Given the description of an element on the screen output the (x, y) to click on. 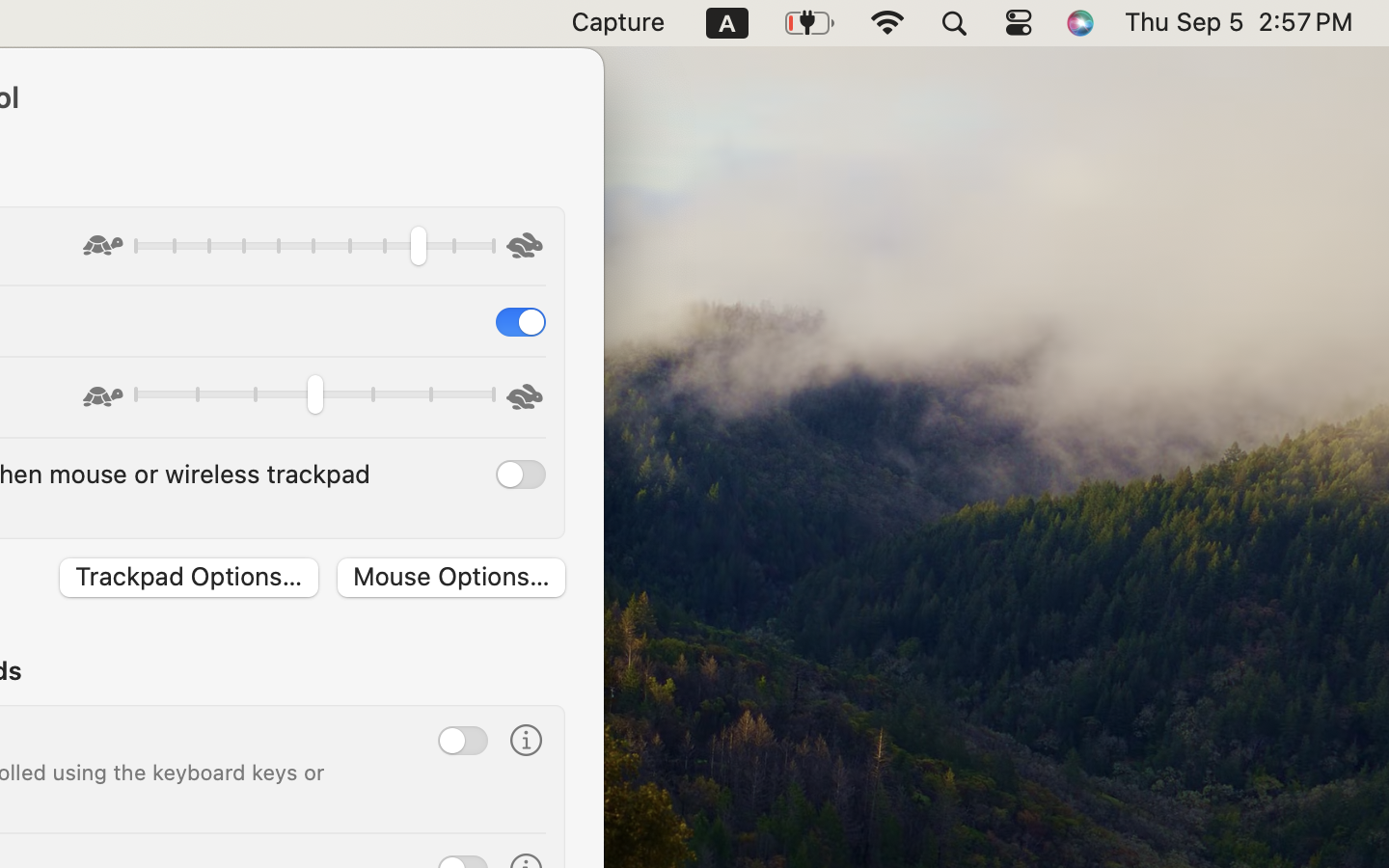
8.0 Element type: AXSlider (313, 248)
0.5 Element type: AXSlider (313, 397)
